Given the description of an element on the screen output the (x, y) to click on. 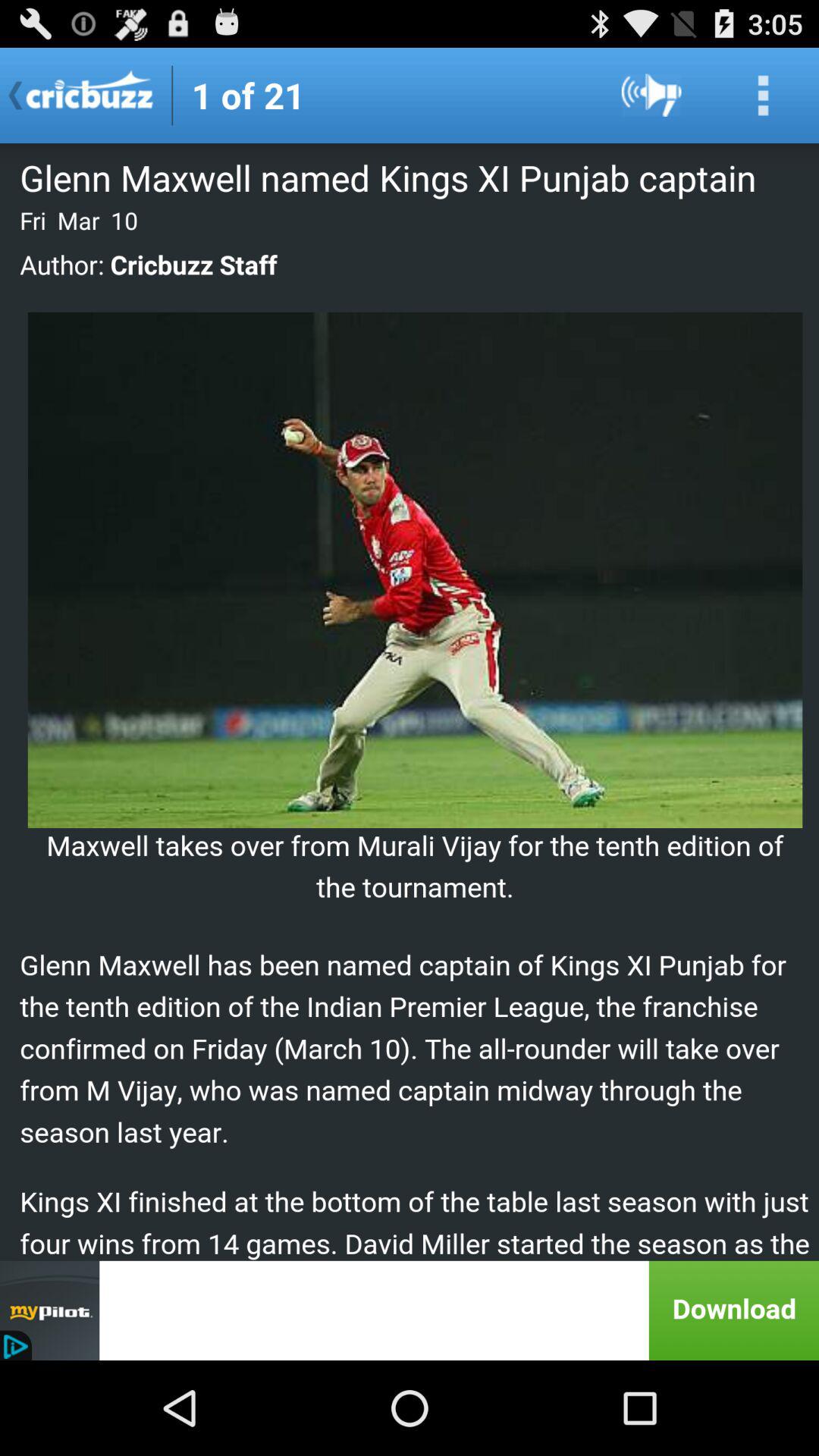
more options (763, 95)
